Given the description of an element on the screen output the (x, y) to click on. 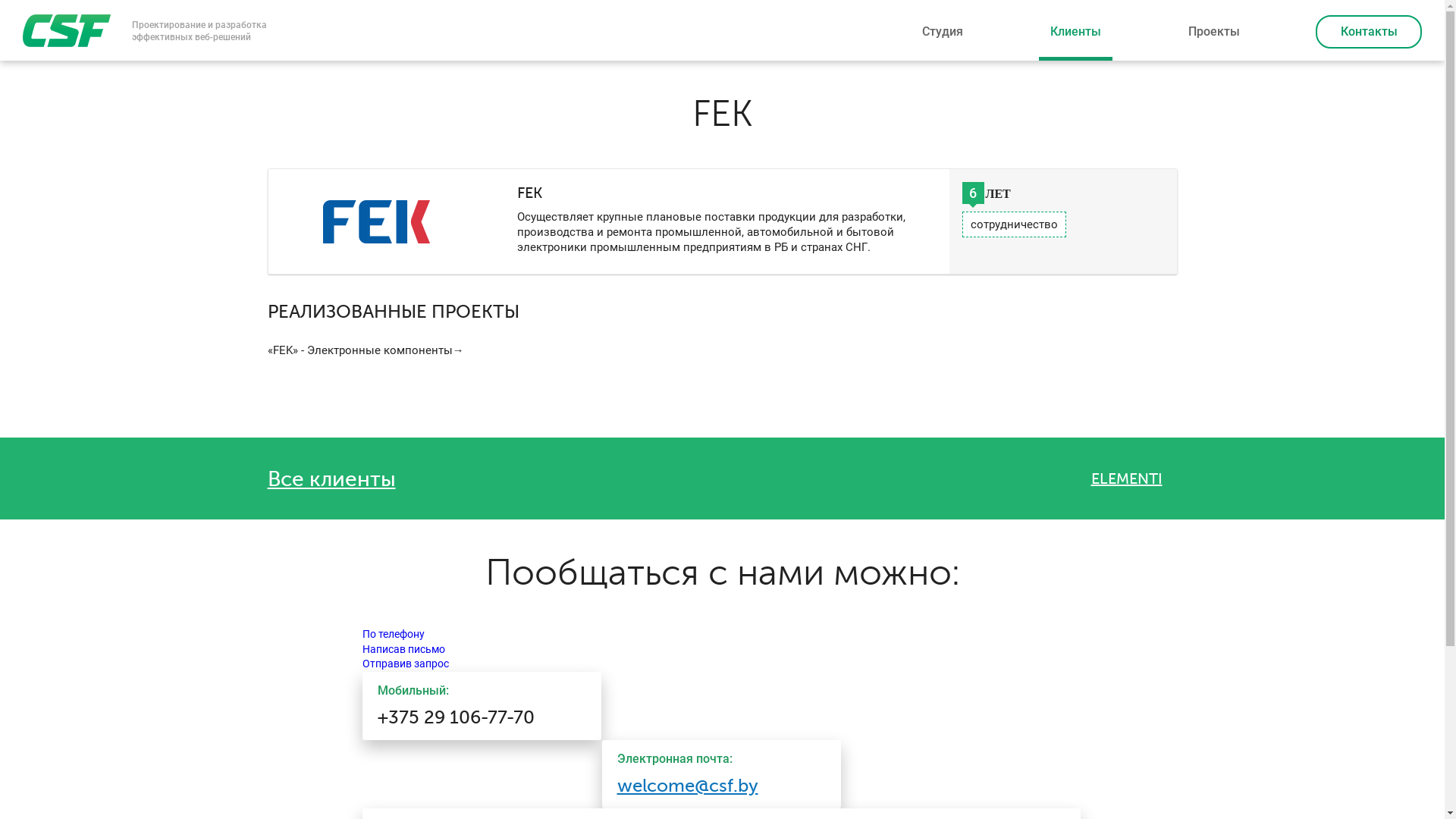
ELEMENTI Element type: text (1133, 478)
welcome@csf.by Element type: text (687, 786)
FEK Element type: hover (376, 221)
